Given the description of an element on the screen output the (x, y) to click on. 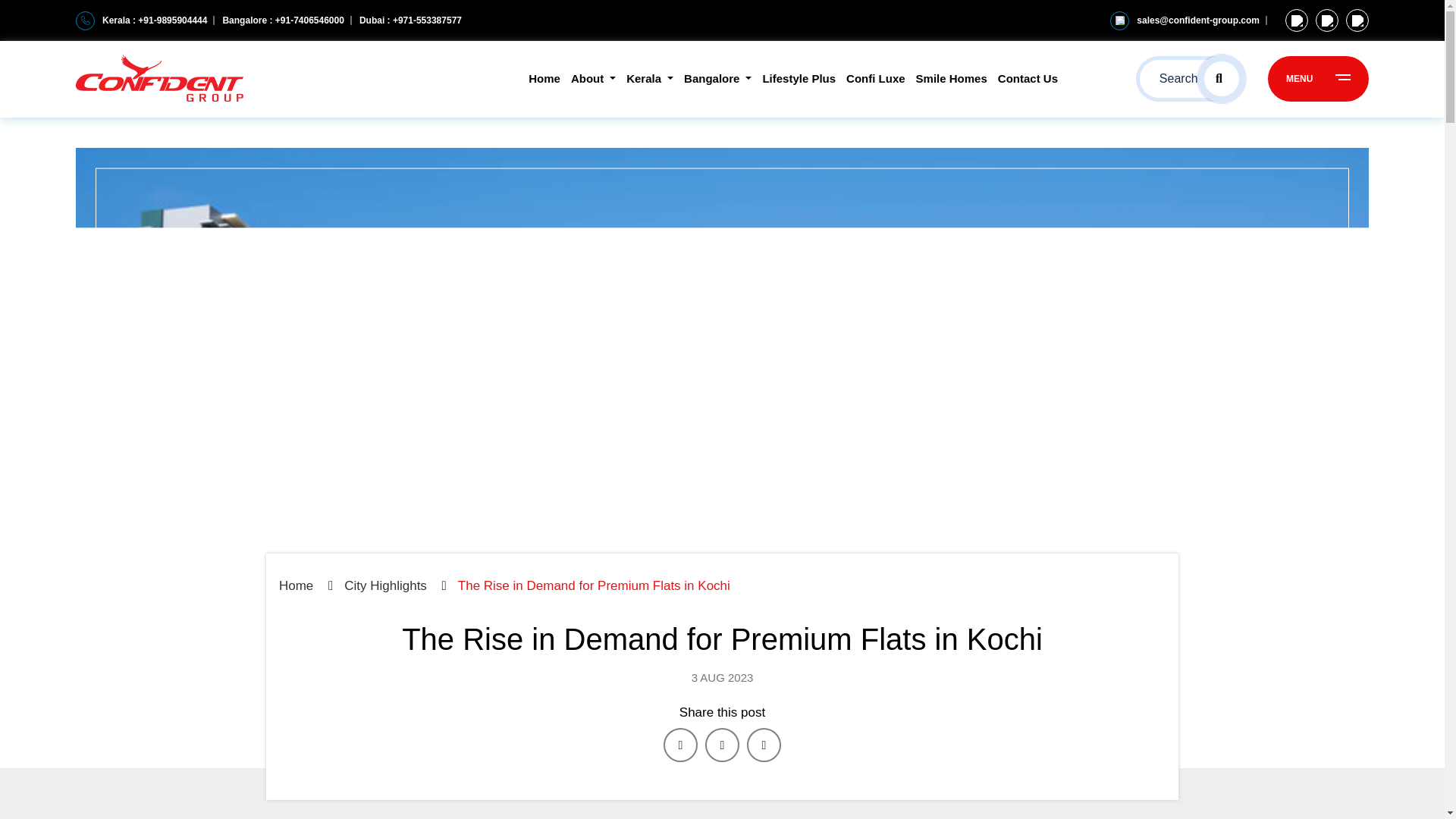
The Rise in Demand for Premium Flats in Kochi (721, 745)
The Rise in Demand for Premium Flats in Kochi (680, 745)
Bangalore (717, 78)
The Rise in Demand for Premium Flats in Kochi (763, 745)
